Given the description of an element on the screen output the (x, y) to click on. 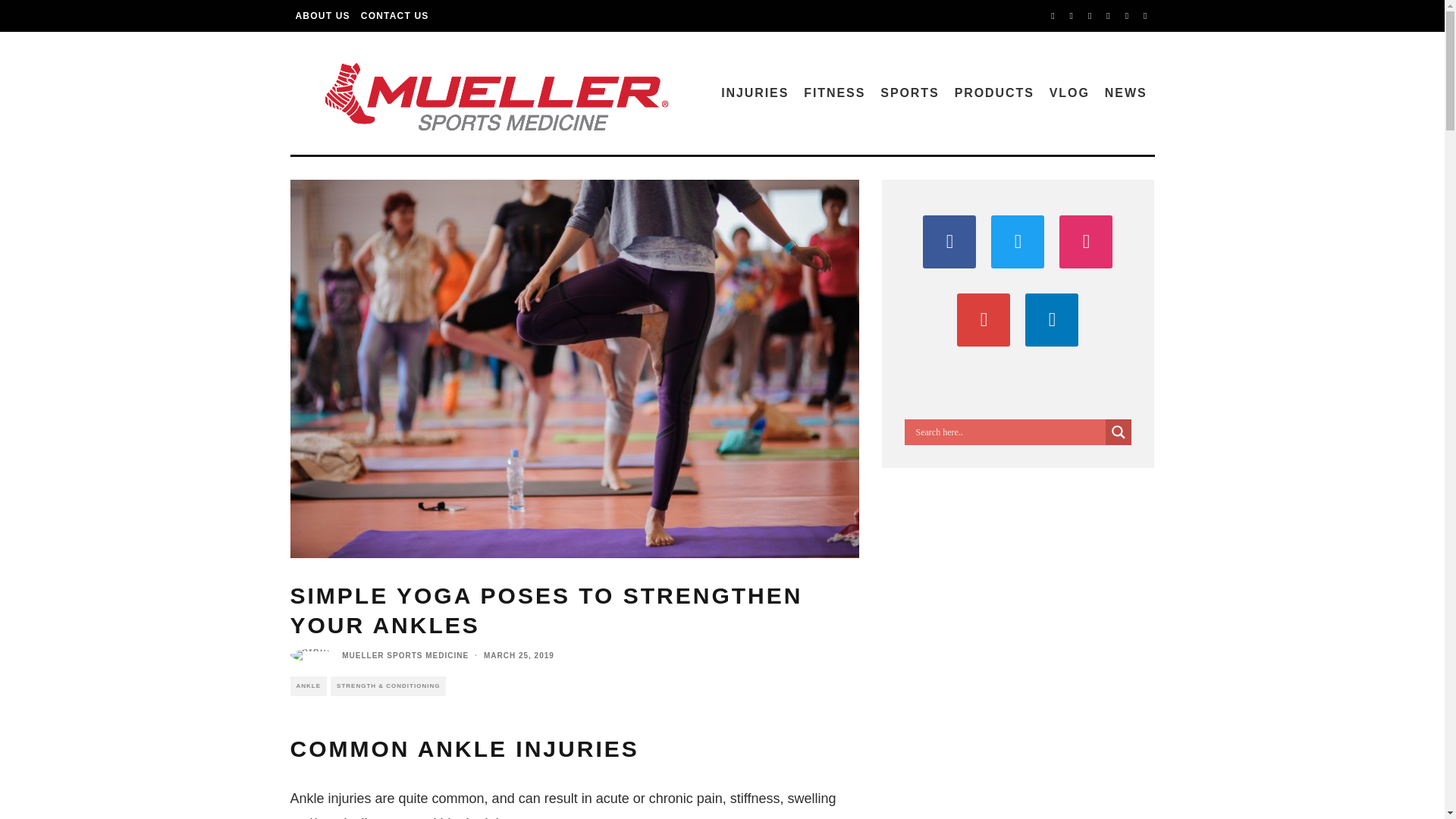
FITNESS (834, 93)
SPORTS (909, 93)
ABOUT US (322, 15)
INJURIES (754, 93)
CONTACT US (394, 15)
